Given the description of an element on the screen output the (x, y) to click on. 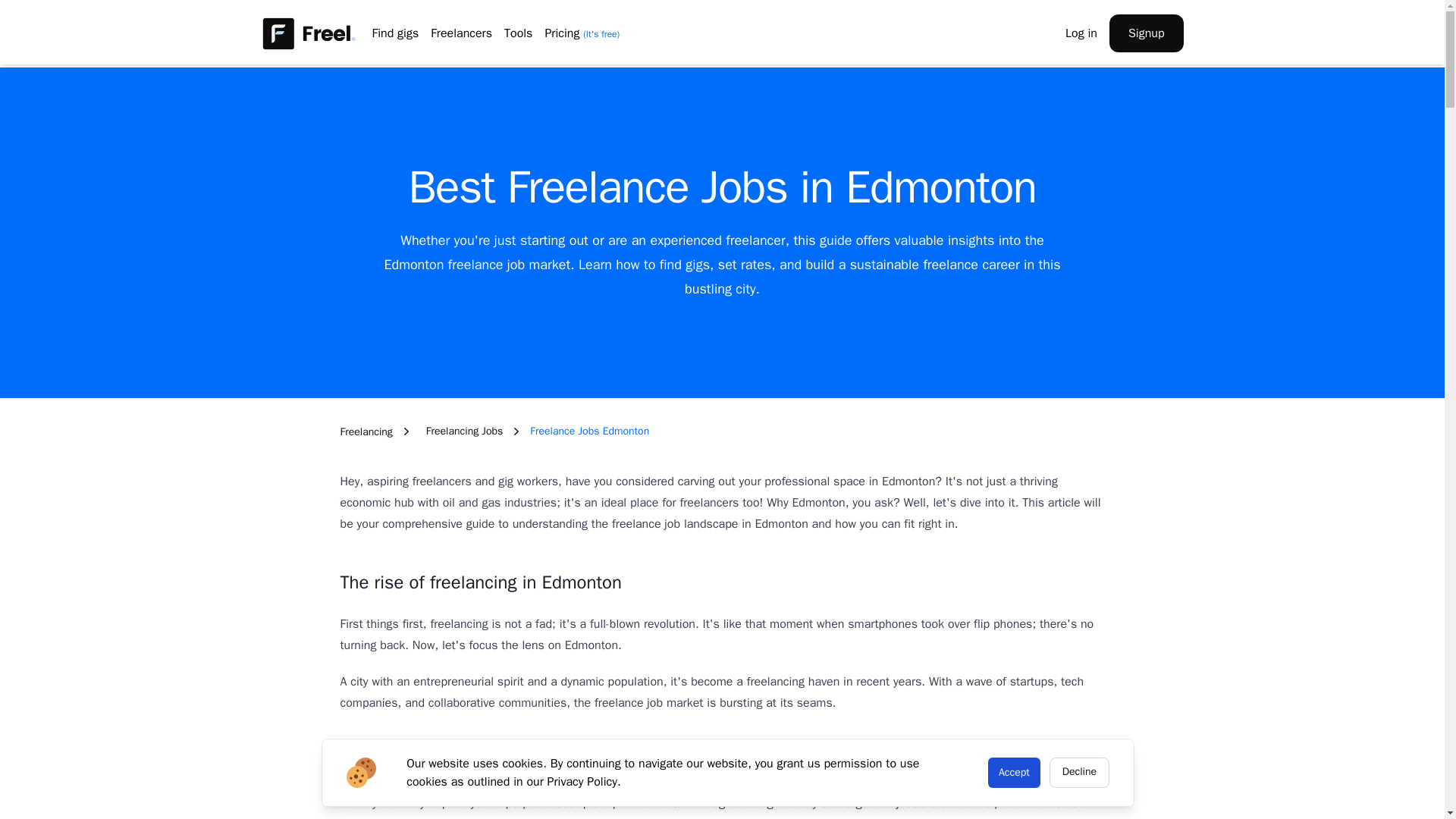
Find gigs (395, 33)
Freelancing (365, 431)
Signup (1146, 33)
Log in (1081, 33)
Freelancing Jobs (464, 431)
Freelancers (461, 33)
Decline (1079, 772)
Tools (517, 33)
Accept (1014, 772)
